Given the description of an element on the screen output the (x, y) to click on. 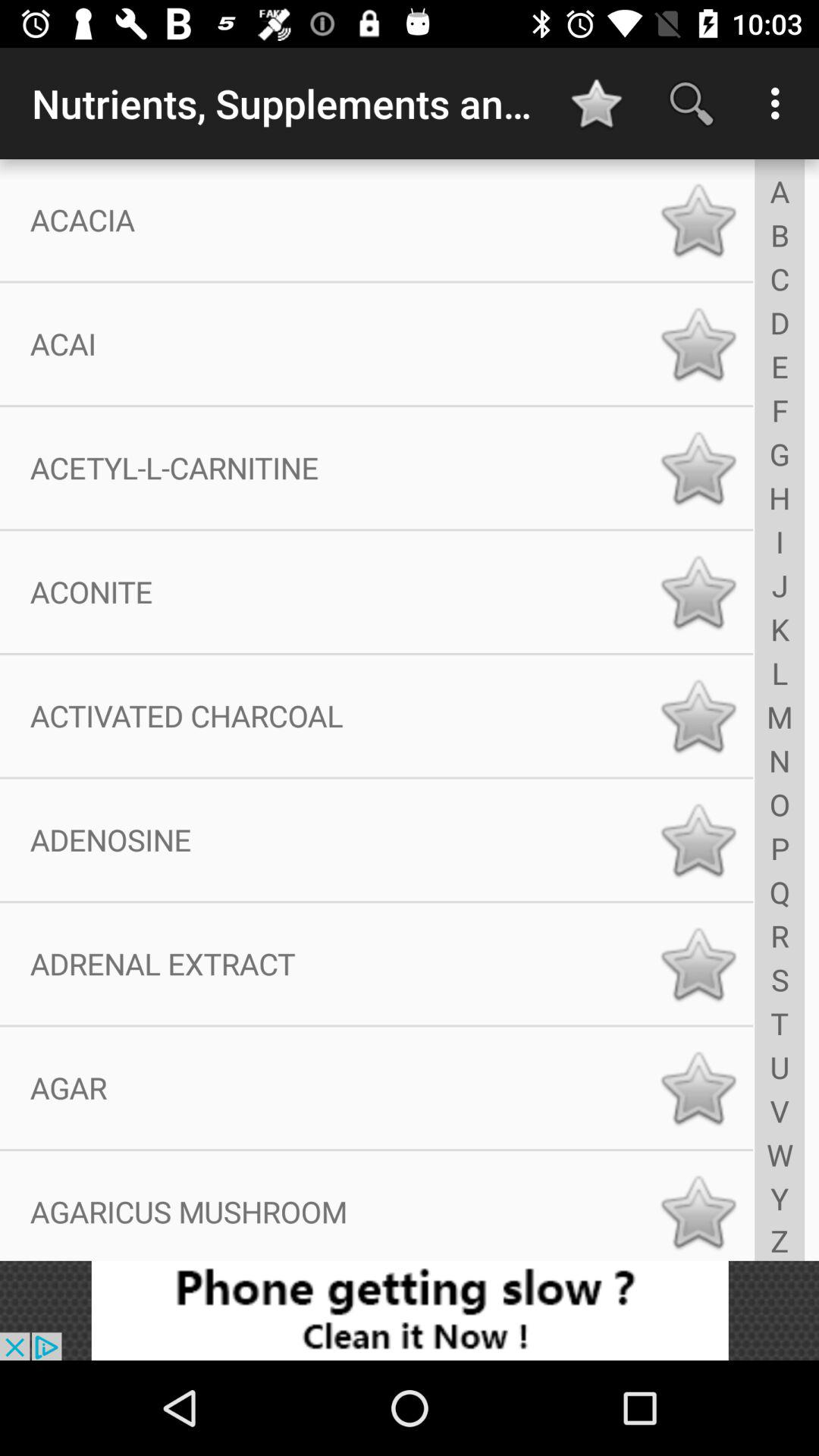
toggle favorite status of adenosine (697, 839)
